Given the description of an element on the screen output the (x, y) to click on. 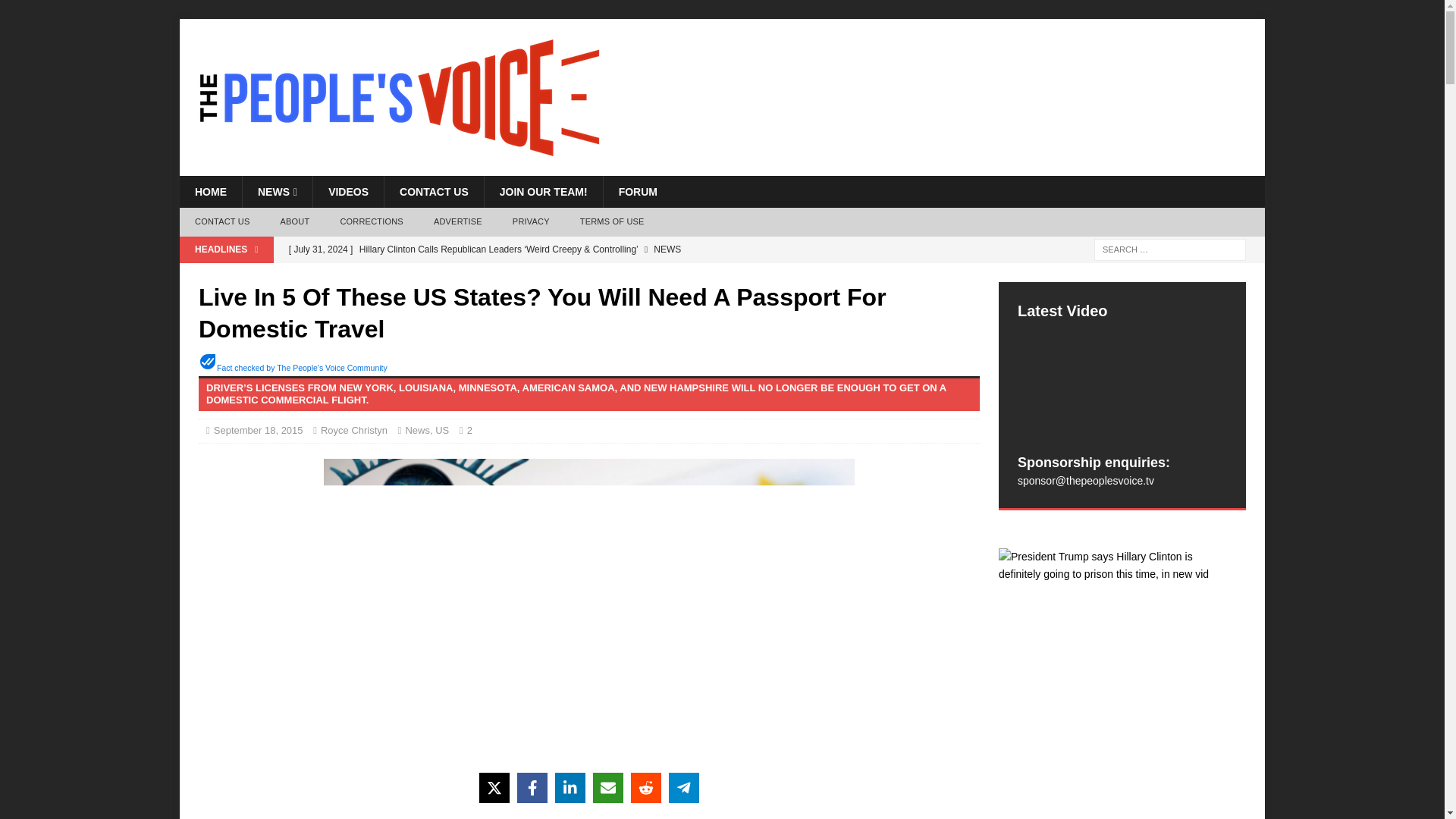
TERMS OF USE (611, 222)
VIDEOS (348, 192)
Fact checked by The People's Voice Community (301, 367)
News (416, 430)
CONTACT US (221, 222)
ADVERTISE (458, 222)
September 18, 2015 (258, 430)
FORUM (637, 192)
PRIVACY (530, 222)
HOME (210, 192)
US (441, 430)
ABOUT (294, 222)
NEWS (277, 192)
CONTACT US (433, 192)
Search (56, 11)
